Given the description of an element on the screen output the (x, y) to click on. 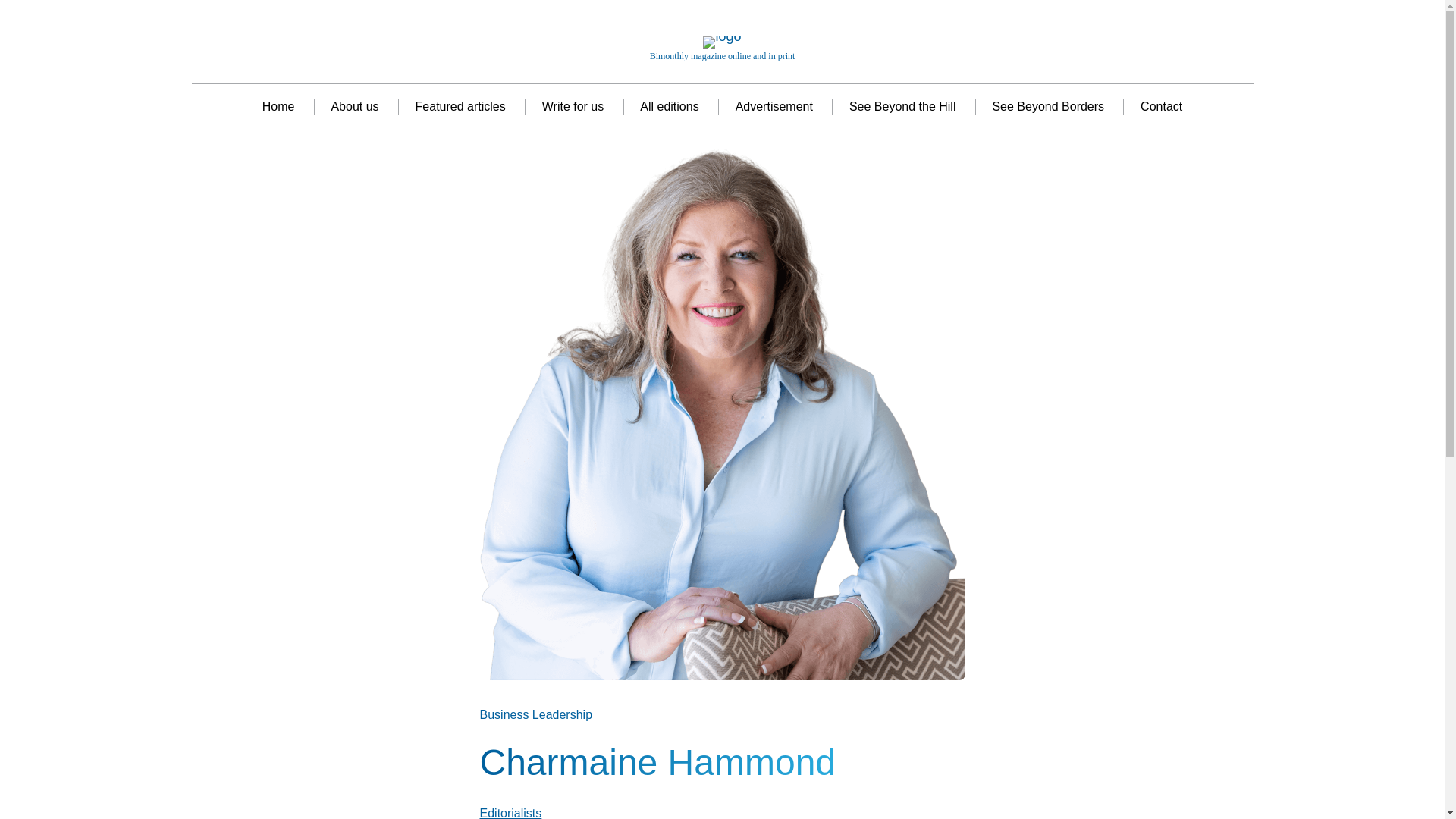
Featured articles (459, 106)
Contact (1161, 106)
All editions (669, 106)
Home (278, 106)
Business Leadership (535, 714)
About us (354, 106)
Editorialists (510, 812)
Advertisement (773, 106)
See Beyond the Hill (902, 106)
Write for us (572, 106)
See Beyond the Hill (902, 106)
See Beyond Borders (1047, 106)
